Given the description of an element on the screen output the (x, y) to click on. 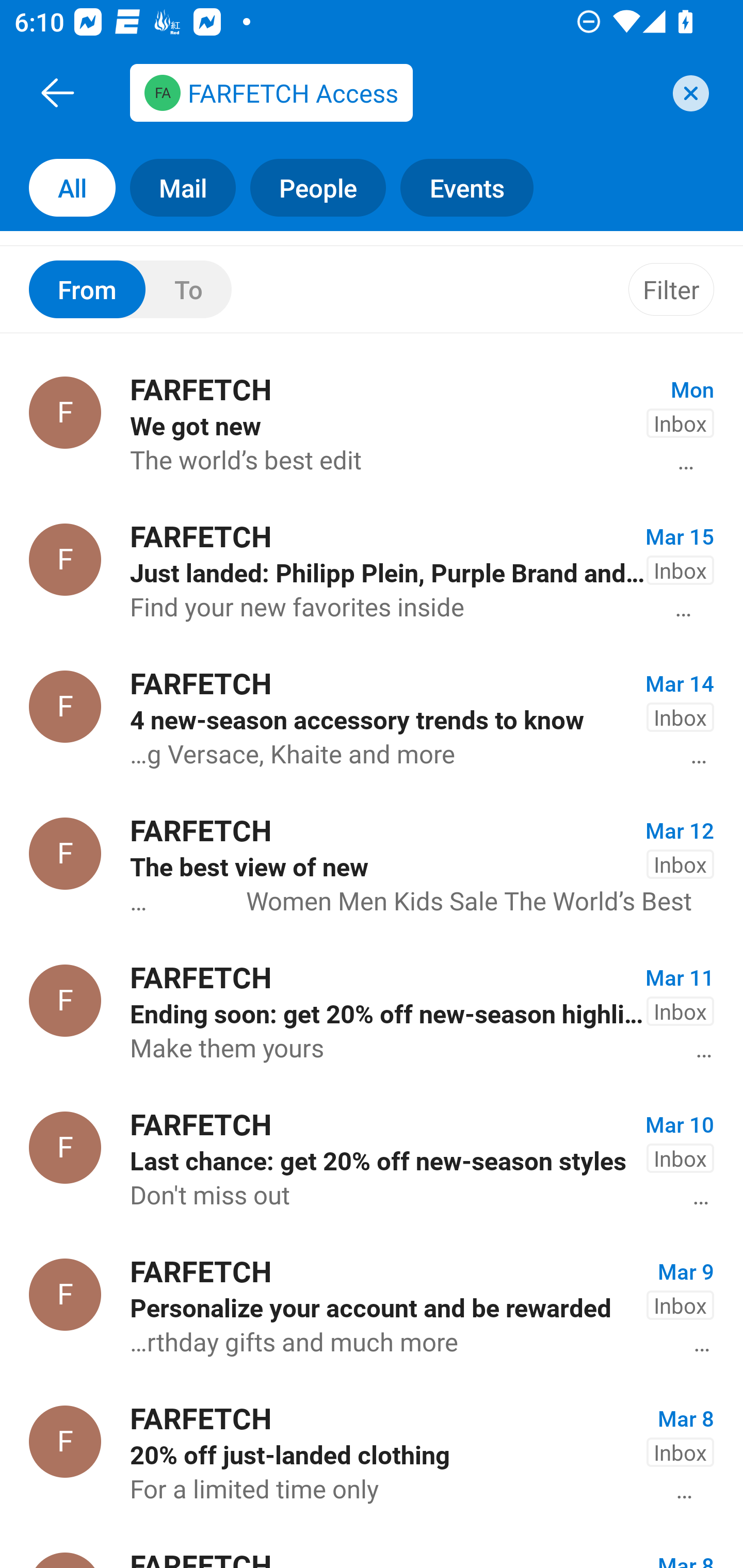
Back (57, 92)
farfetch@email.farfetch.com  (394, 92)
clear search (687, 93)
Mail (175, 187)
People (310, 187)
Events (473, 187)
Toggle to search emails to the person (129, 289)
Filter (671, 289)
